Given the description of an element on the screen output the (x, y) to click on. 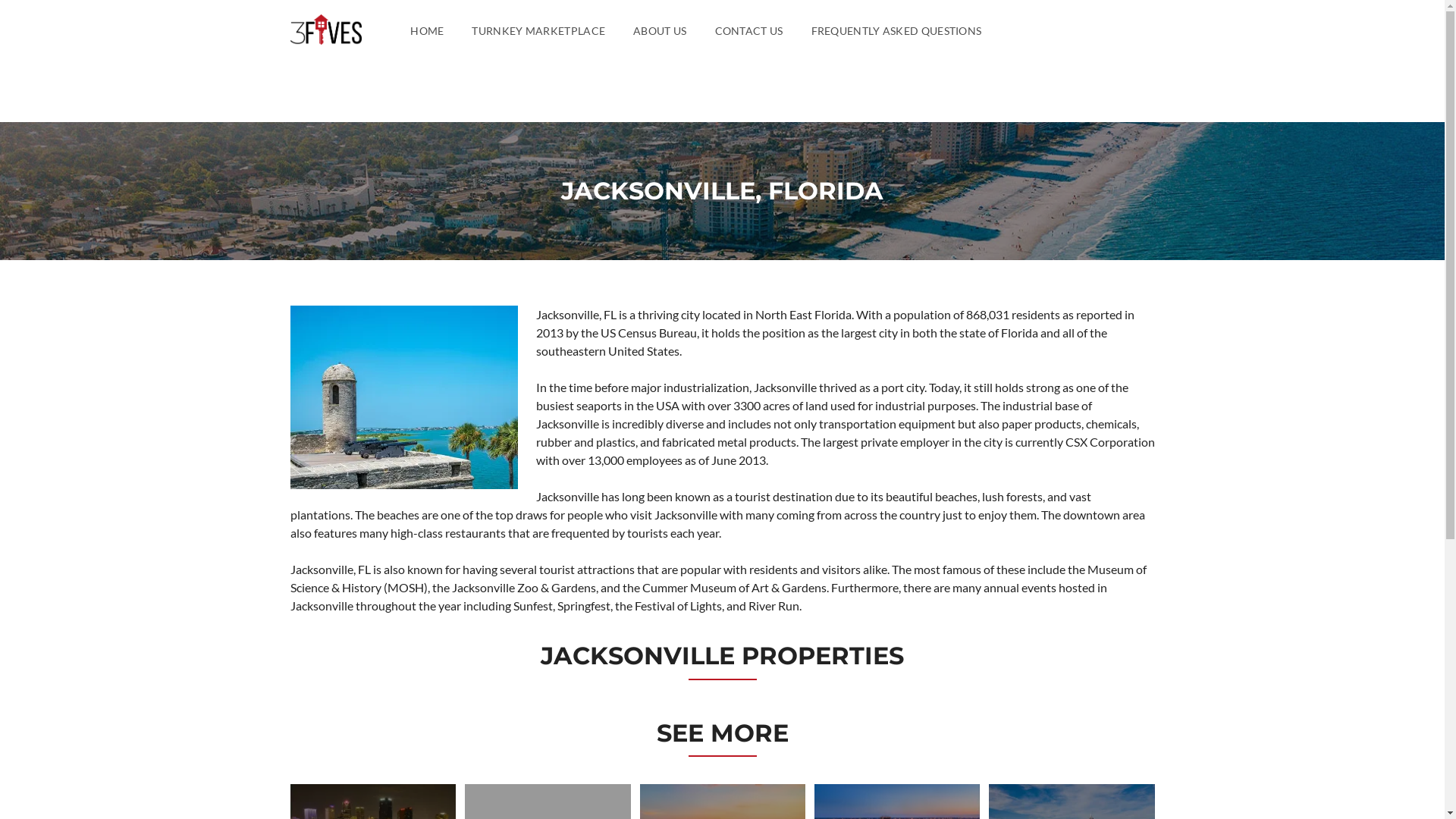
FREQUENTLY ASKED QUESTIONS Element type: text (896, 30)
TURNKEY MARKETPLACE Element type: text (538, 30)
ABOUT US Element type: text (659, 30)
HOME Element type: text (426, 30)
CONTACT US Element type: text (749, 30)
